Given the description of an element on the screen output the (x, y) to click on. 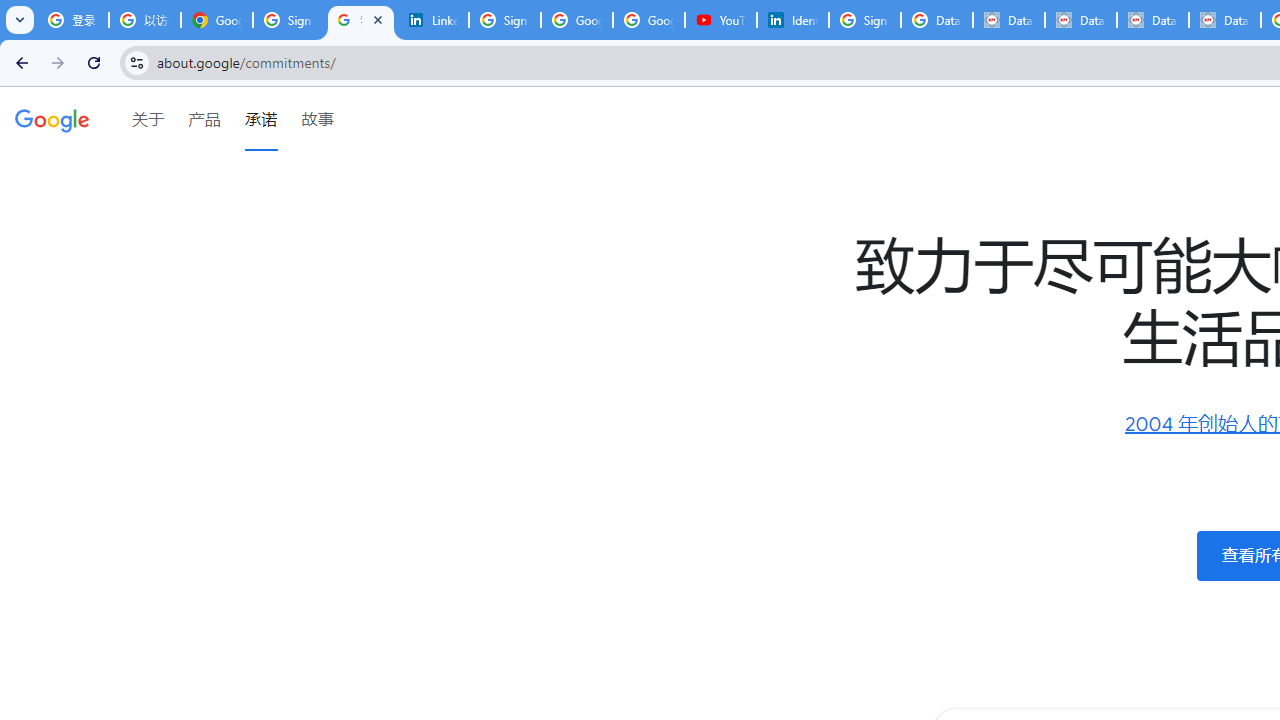
Data Privacy Framework (1153, 20)
Data Privacy Framework (1080, 20)
Data Privacy Framework (1224, 20)
LinkedIn Privacy Policy (432, 20)
Sign in - Google Accounts (289, 20)
